Given the description of an element on the screen output the (x, y) to click on. 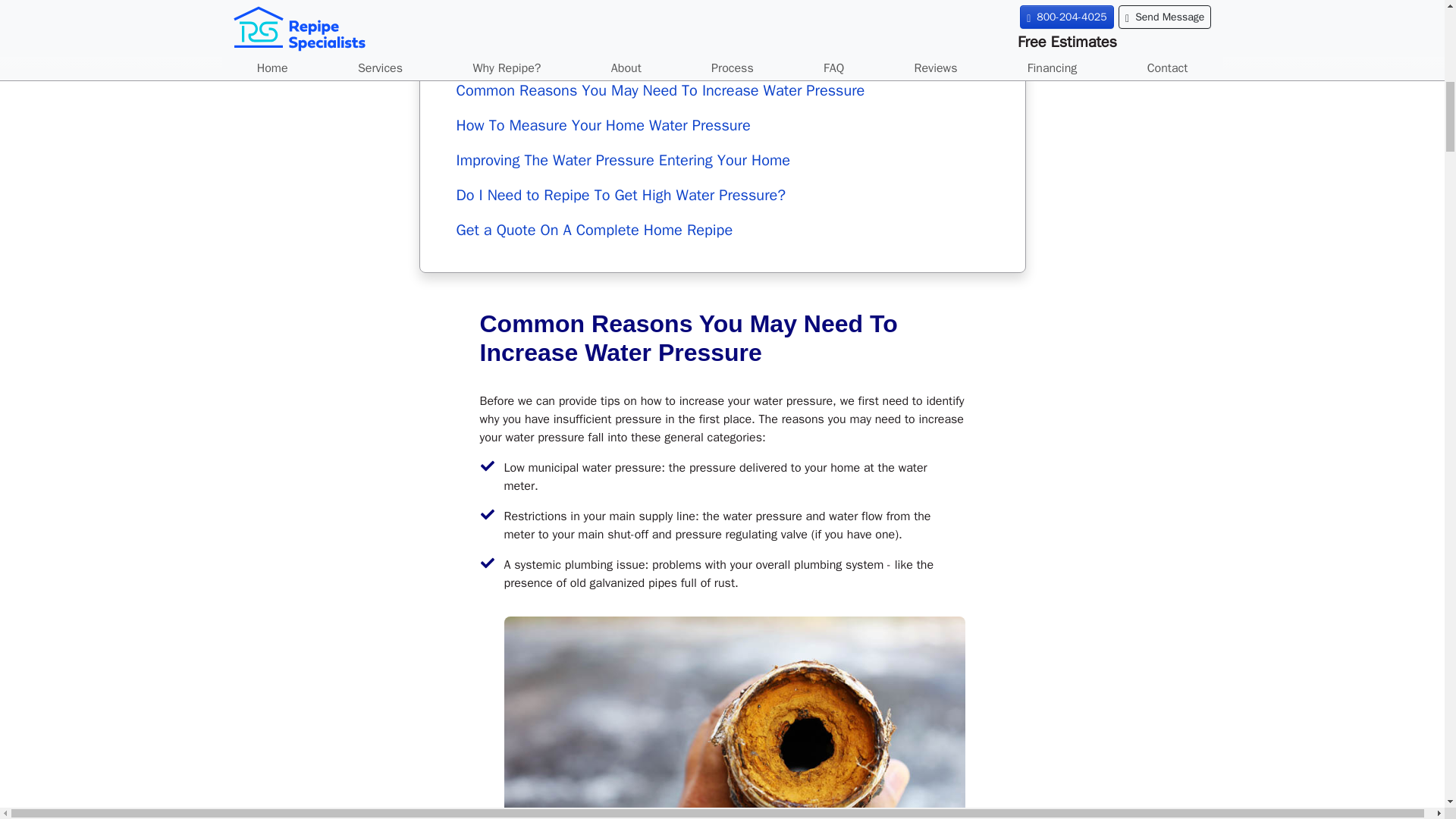
Do I Need to Repipe To Get High Water Pressure? (722, 195)
Improving The Water Pressure Entering Your Home (722, 160)
Common Reasons You May Need To Increase Water Pressure (722, 90)
How To Measure Your Home Water Pressure (722, 125)
Get a Quote On A Complete Home Repipe (722, 230)
